Given the description of an element on the screen output the (x, y) to click on. 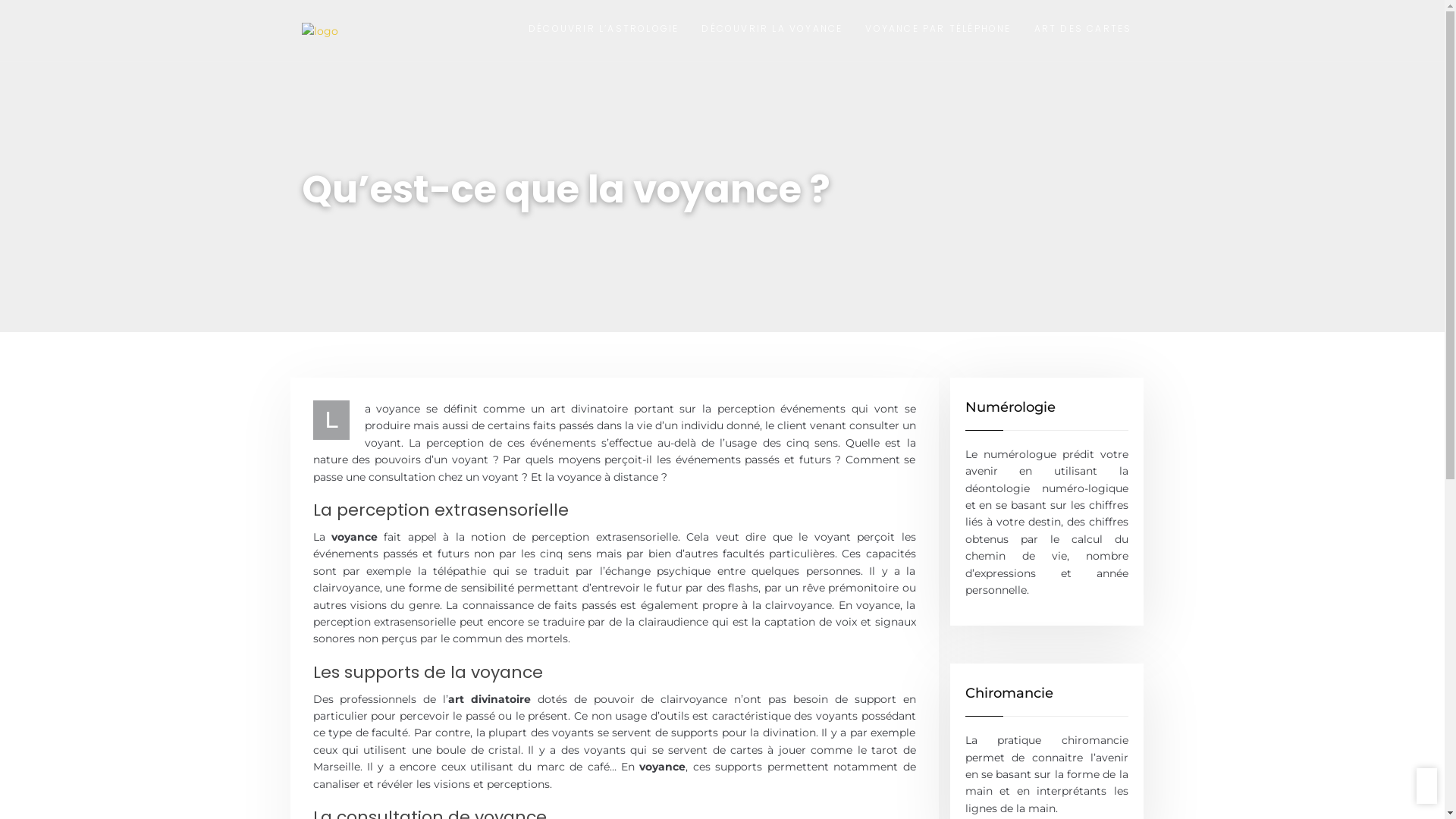
ART DES CARTES Element type: text (1083, 30)
